Given the description of an element on the screen output the (x, y) to click on. 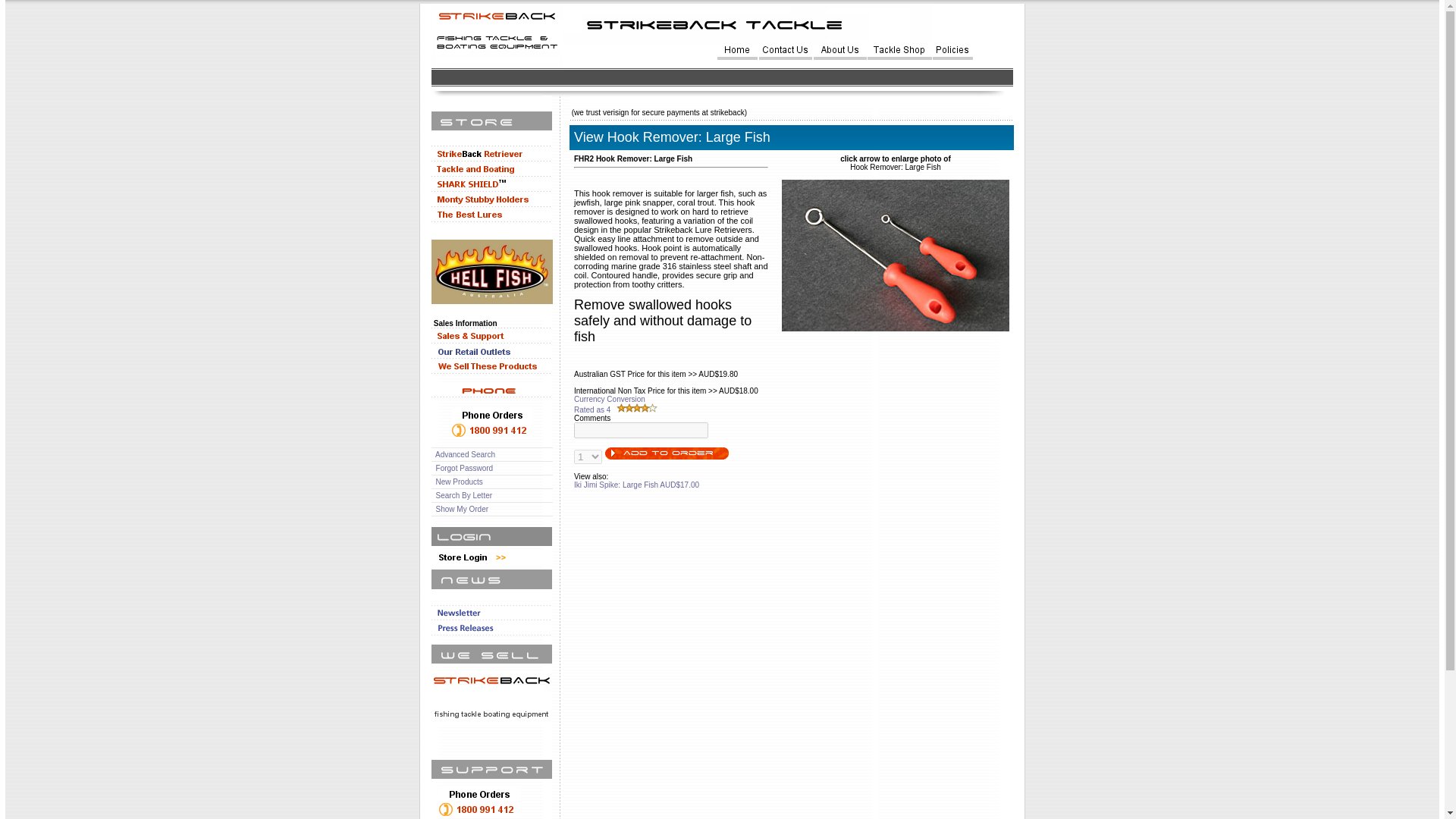
New Products (459, 481)
Forgot Password (464, 468)
Advanced Search (465, 454)
Show My Order (461, 509)
Search By Letter (463, 495)
Rated as 4 (591, 409)
Currency Conversion (609, 398)
